Given the description of an element on the screen output the (x, y) to click on. 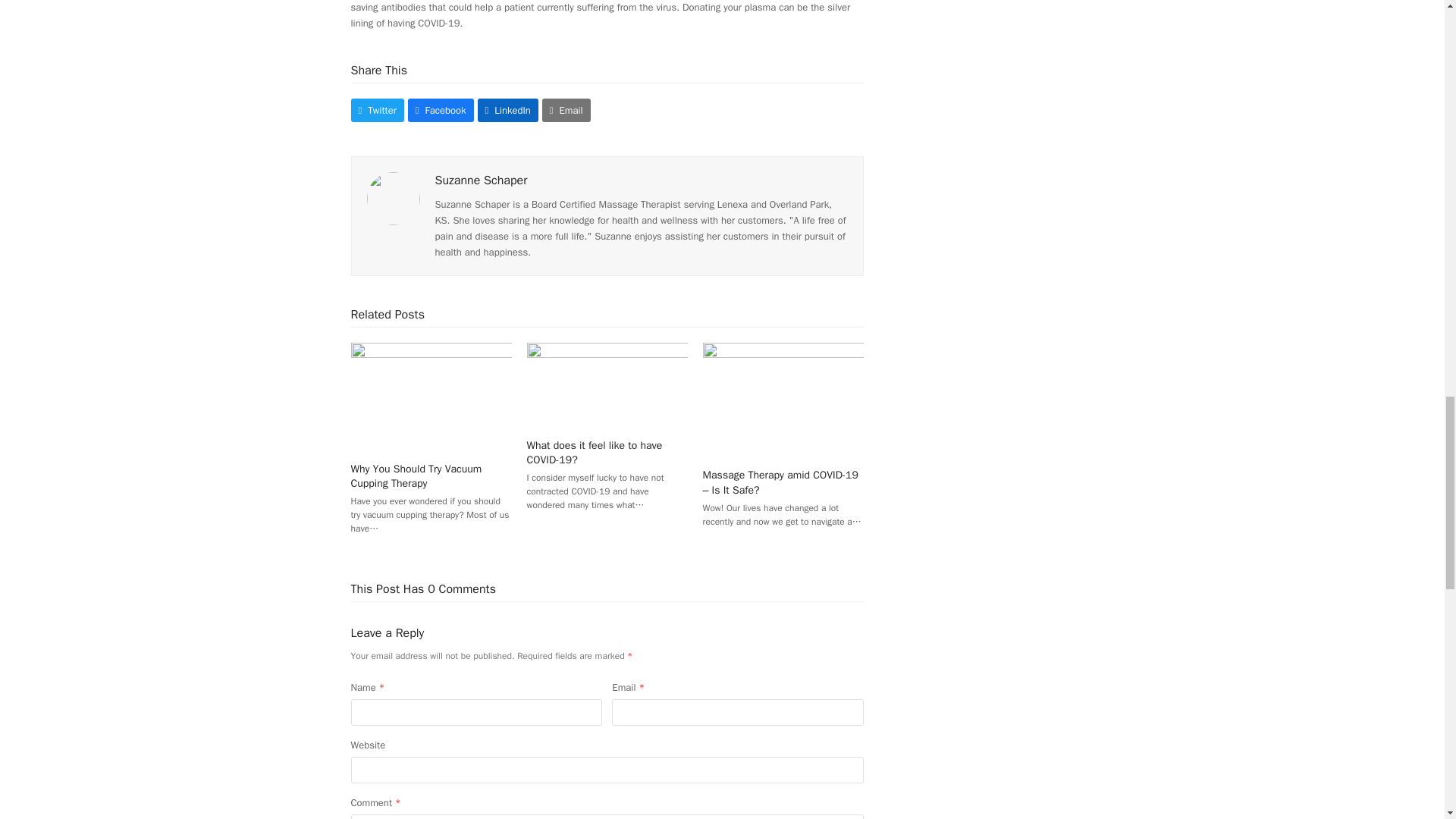
Visit Author Page (393, 196)
What does it feel like to have COVID-19? (607, 383)
Visit Author Page (481, 180)
Why You Should Try Vacuum Cupping Therapy (430, 395)
